Given the description of an element on the screen output the (x, y) to click on. 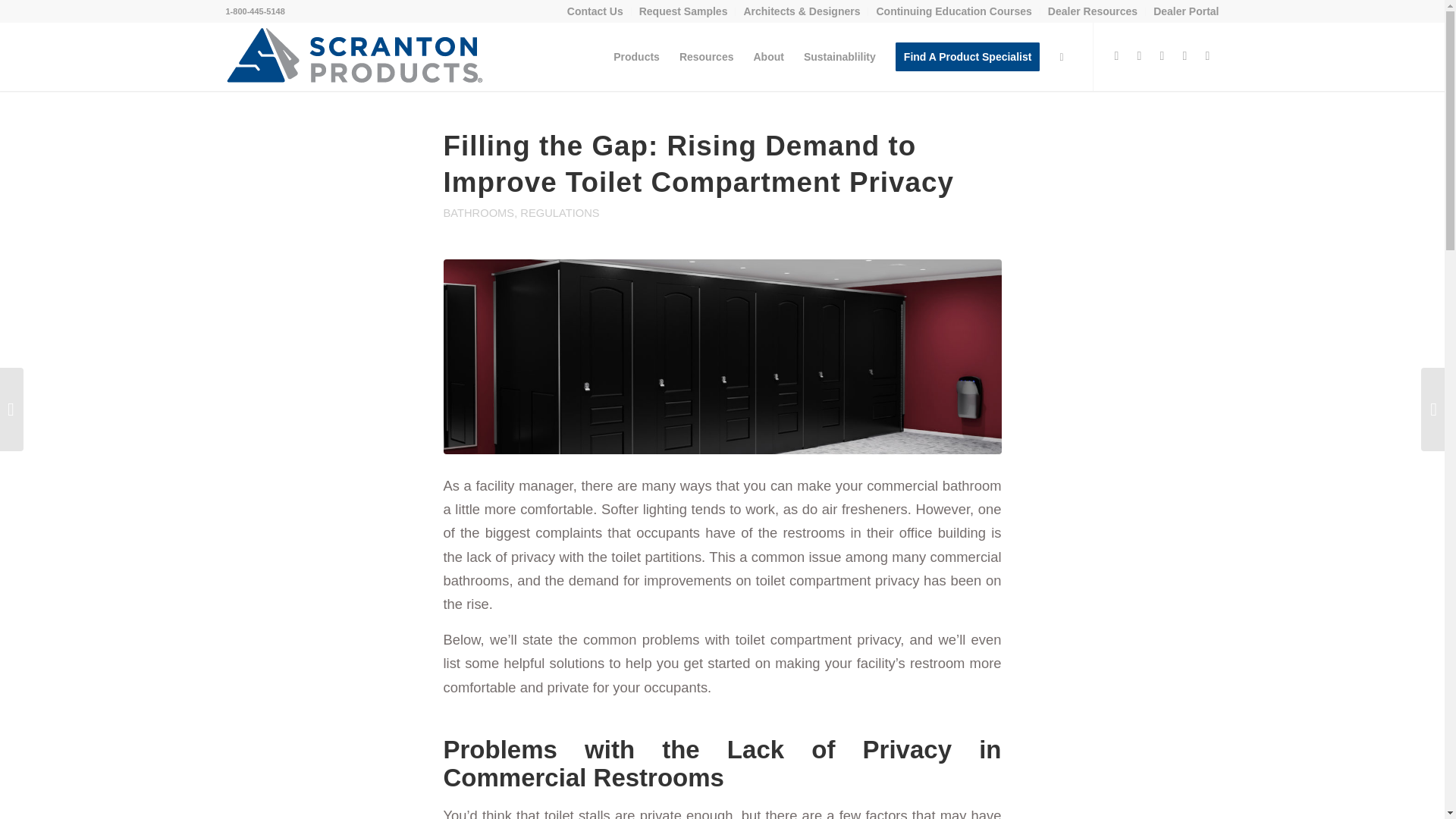
Youtube (1162, 56)
Scranton Products (354, 56)
Facebook (1139, 56)
Sustainablility (839, 56)
Contact Us (595, 11)
Twitter (1116, 56)
Resources (706, 56)
Continuing Education Courses (953, 11)
Request Samples (683, 11)
Aria Partitions in School Restroom (721, 356)
